Given the description of an element on the screen output the (x, y) to click on. 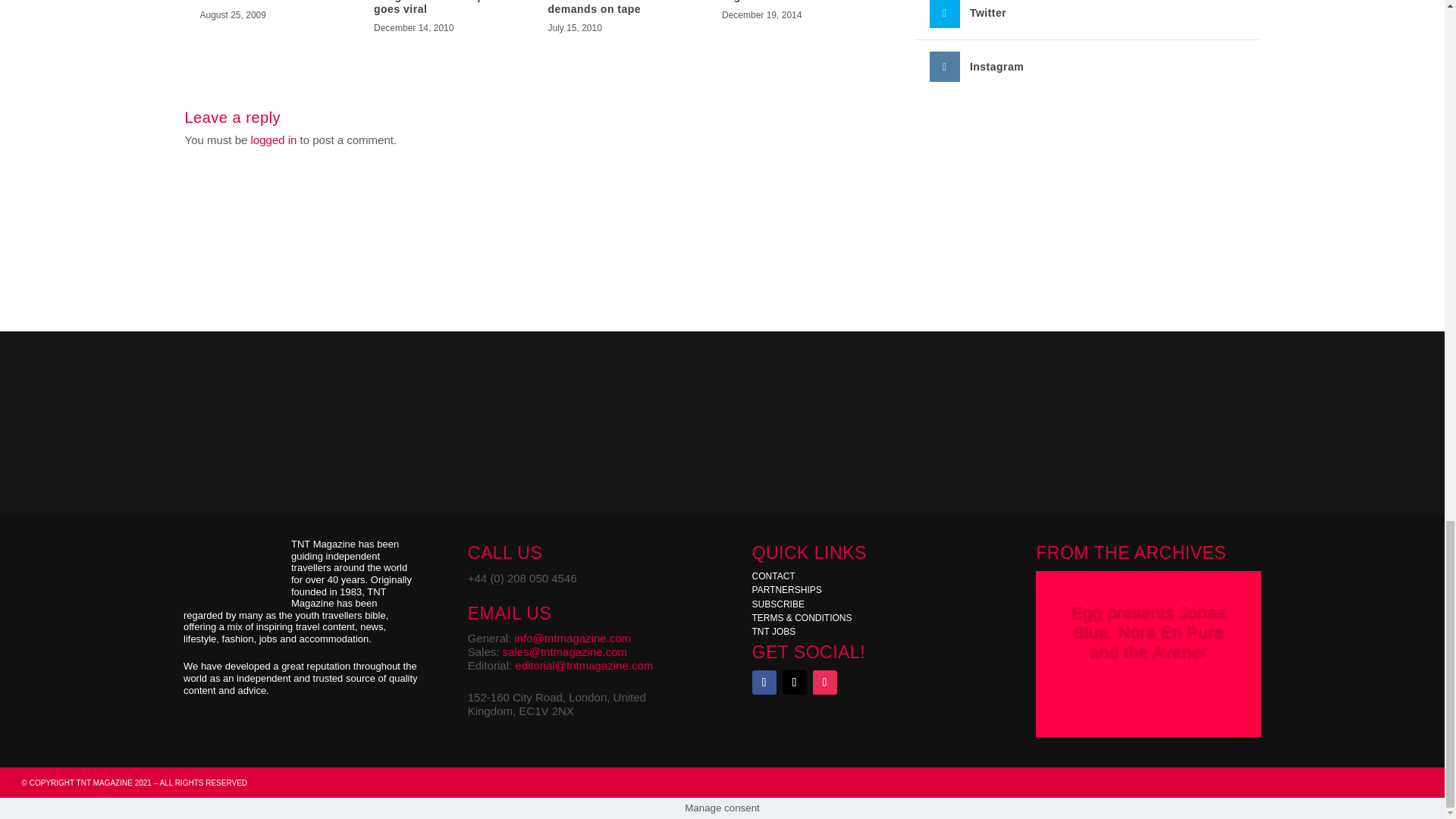
Where to live in Australia (268, 1)
Alleged Kesha sex photo goes viral (441, 7)
